Given the description of an element on the screen output the (x, y) to click on. 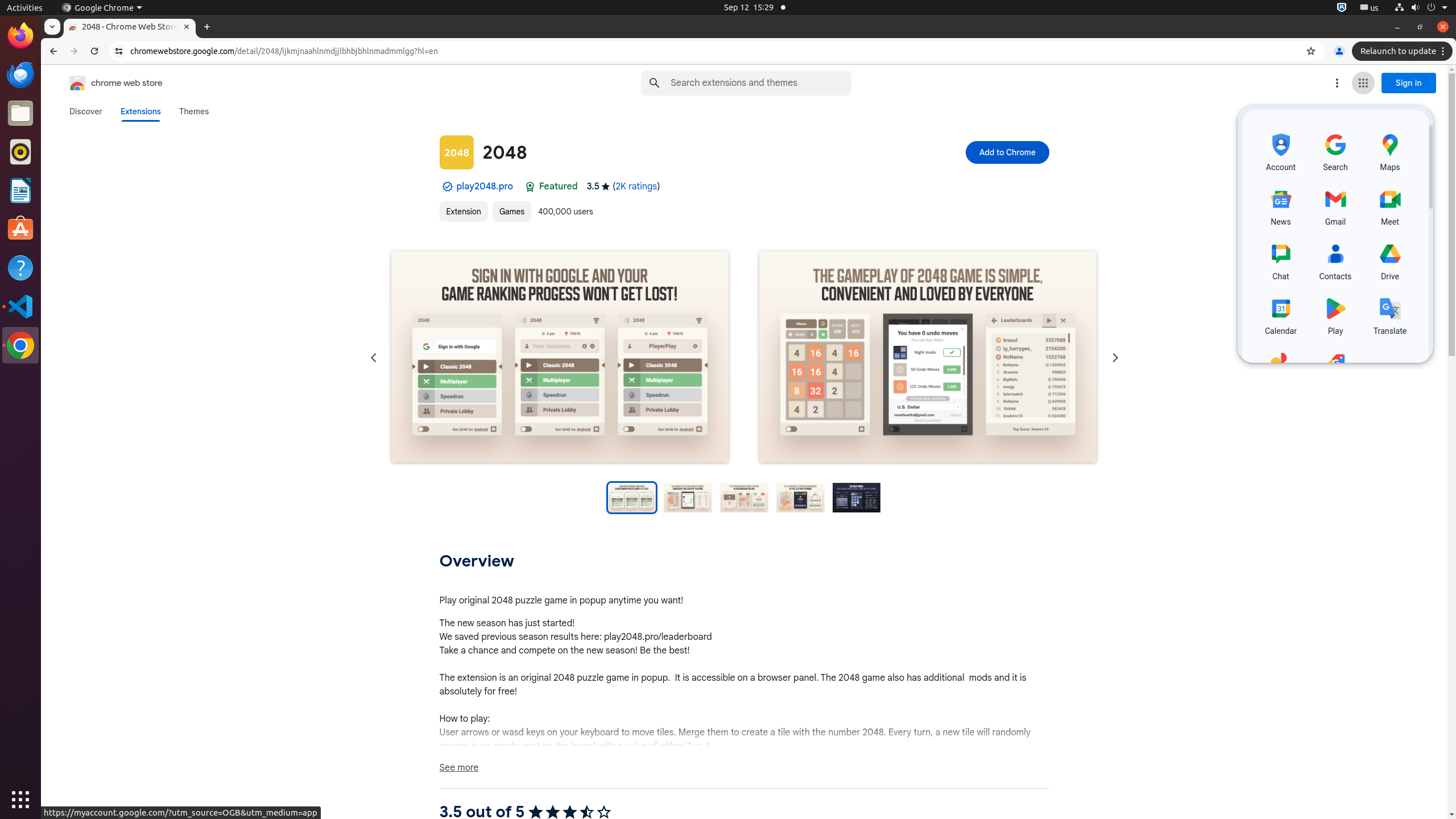
Maps, row 1 of 5 and column 3 of 3 in the first section (opens a new tab) Element type: link (1389, 150)
Reload Element type: push-button (94, 50)
Search input Element type: combo-box (760, 82)
Shopping, row 5 of 5 and column 2 of 3 in the first section (opens a new tab) Element type: link (1335, 369)
Previous slide Element type: push-button (373, 357)
